Given the description of an element on the screen output the (x, y) to click on. 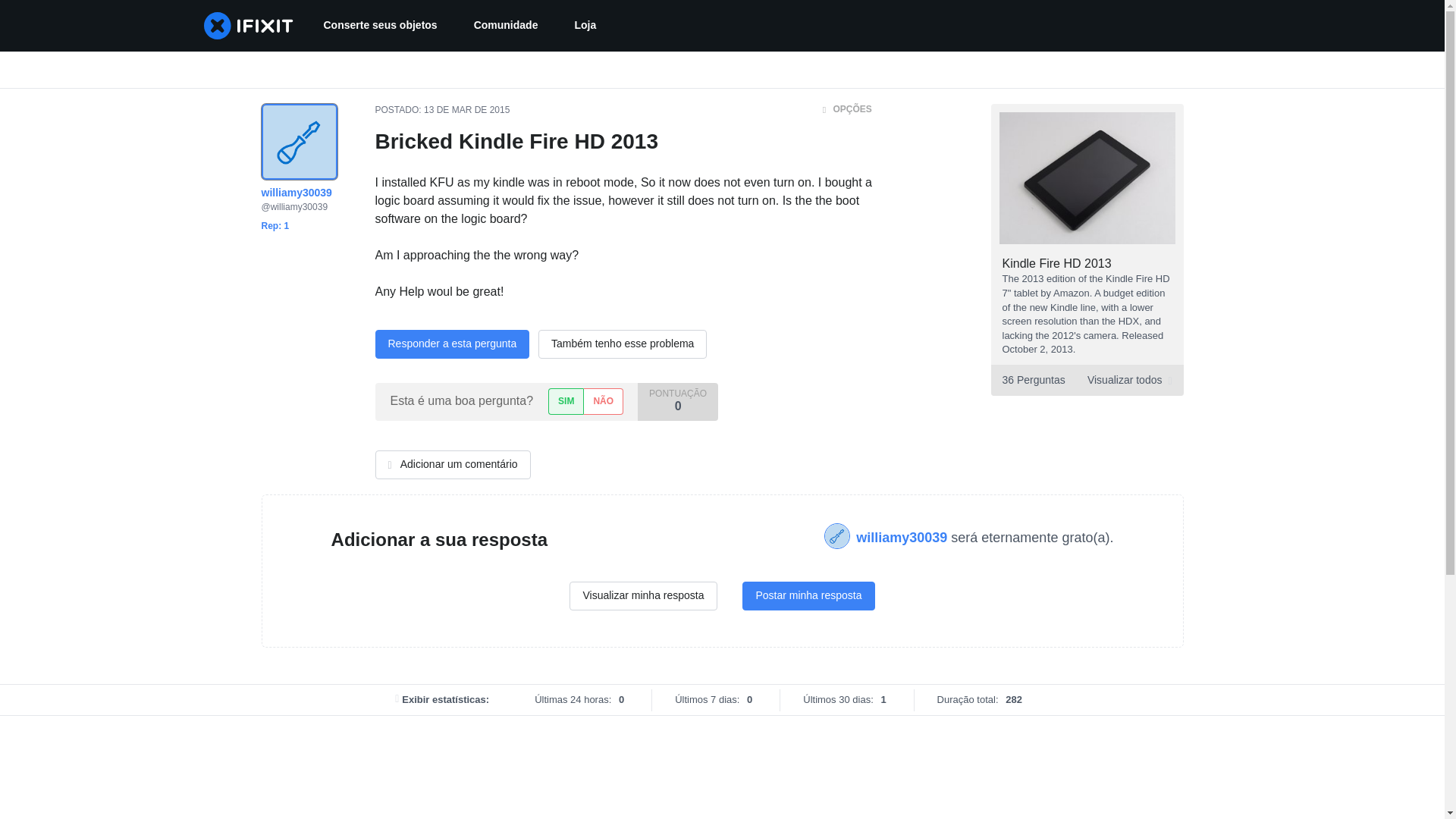
SIM (565, 401)
Kindle Fire HD 2013 (1057, 263)
williamy30039 (903, 537)
Postar minha resposta (808, 595)
Comunidade (505, 25)
Conserte seus objetos (379, 25)
Fri, 13 Mar 2015 16:51:13 -0700 (466, 109)
Visualizar minha resposta (642, 595)
Loja (585, 25)
Responder a esta pergunta (451, 344)
POSTADO: 13 DE MAR DE 2015 (1086, 379)
